Given the description of an element on the screen output the (x, y) to click on. 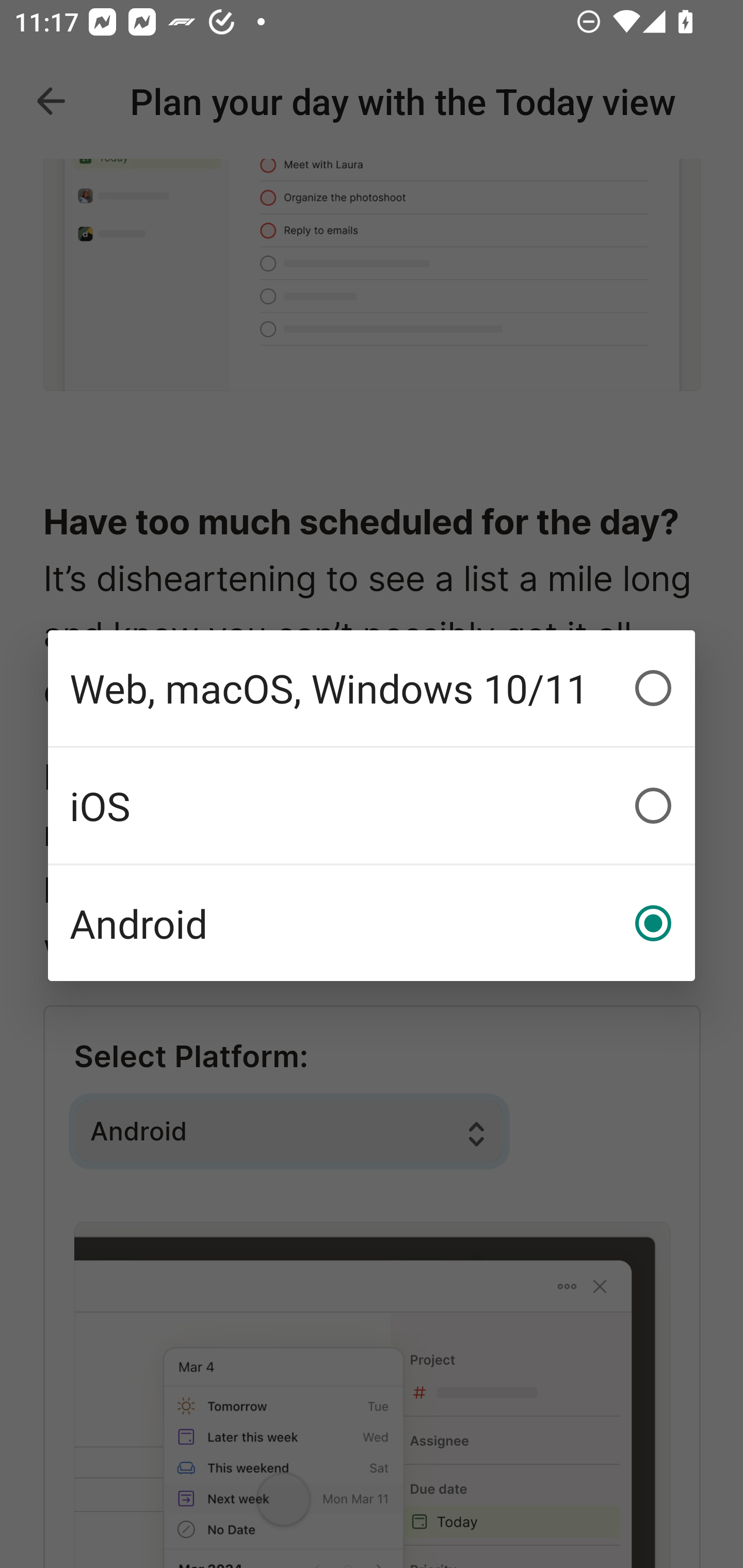
Web, macOS, Windows 10/11 (371, 688)
iOS (371, 805)
Android (371, 923)
